Given the description of an element on the screen output the (x, y) to click on. 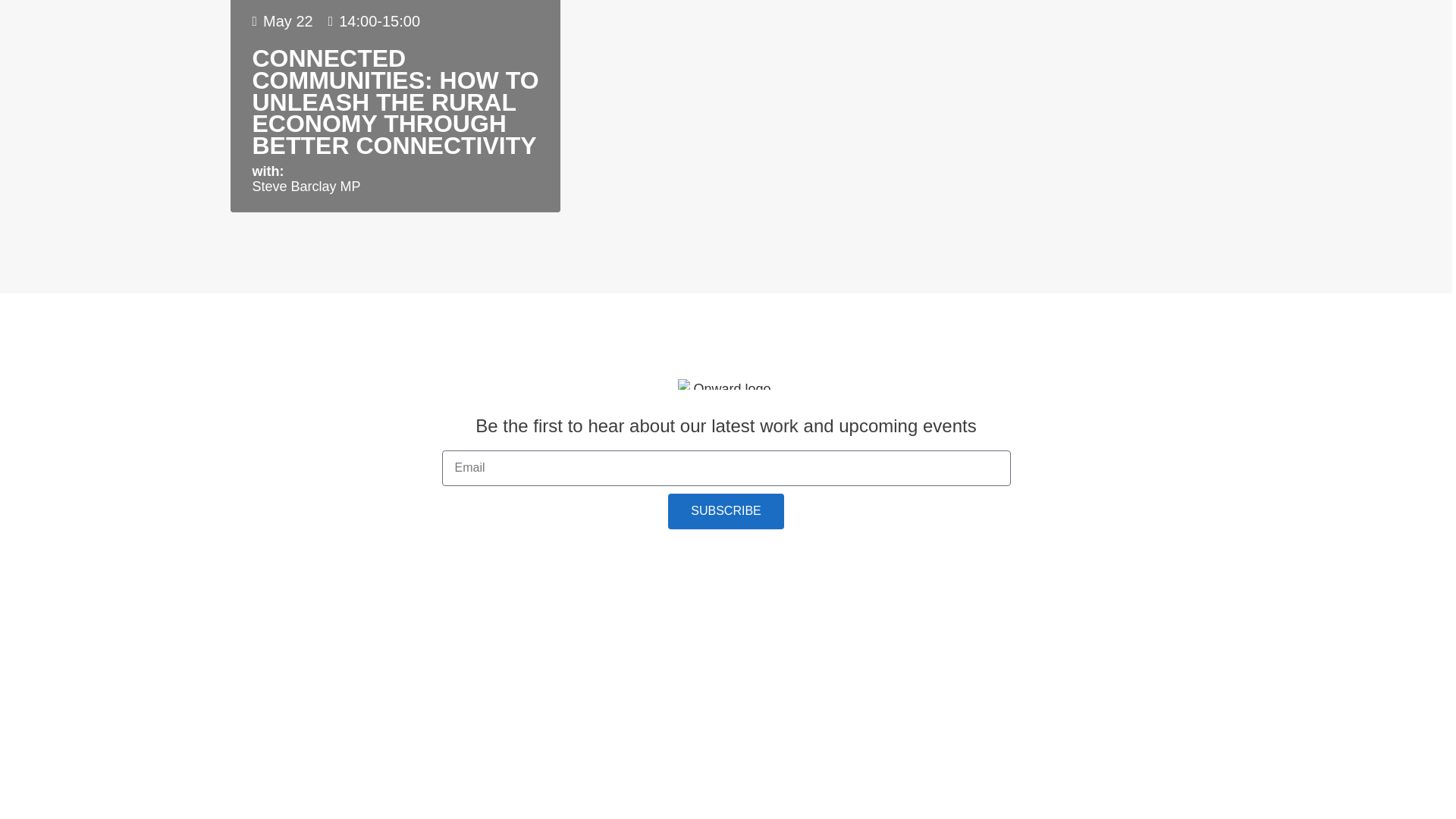
SUBSCRIBE (725, 511)
Steve Barclay MP (305, 186)
Terms of Service and Privacy Policy (726, 541)
